Given the description of an element on the screen output the (x, y) to click on. 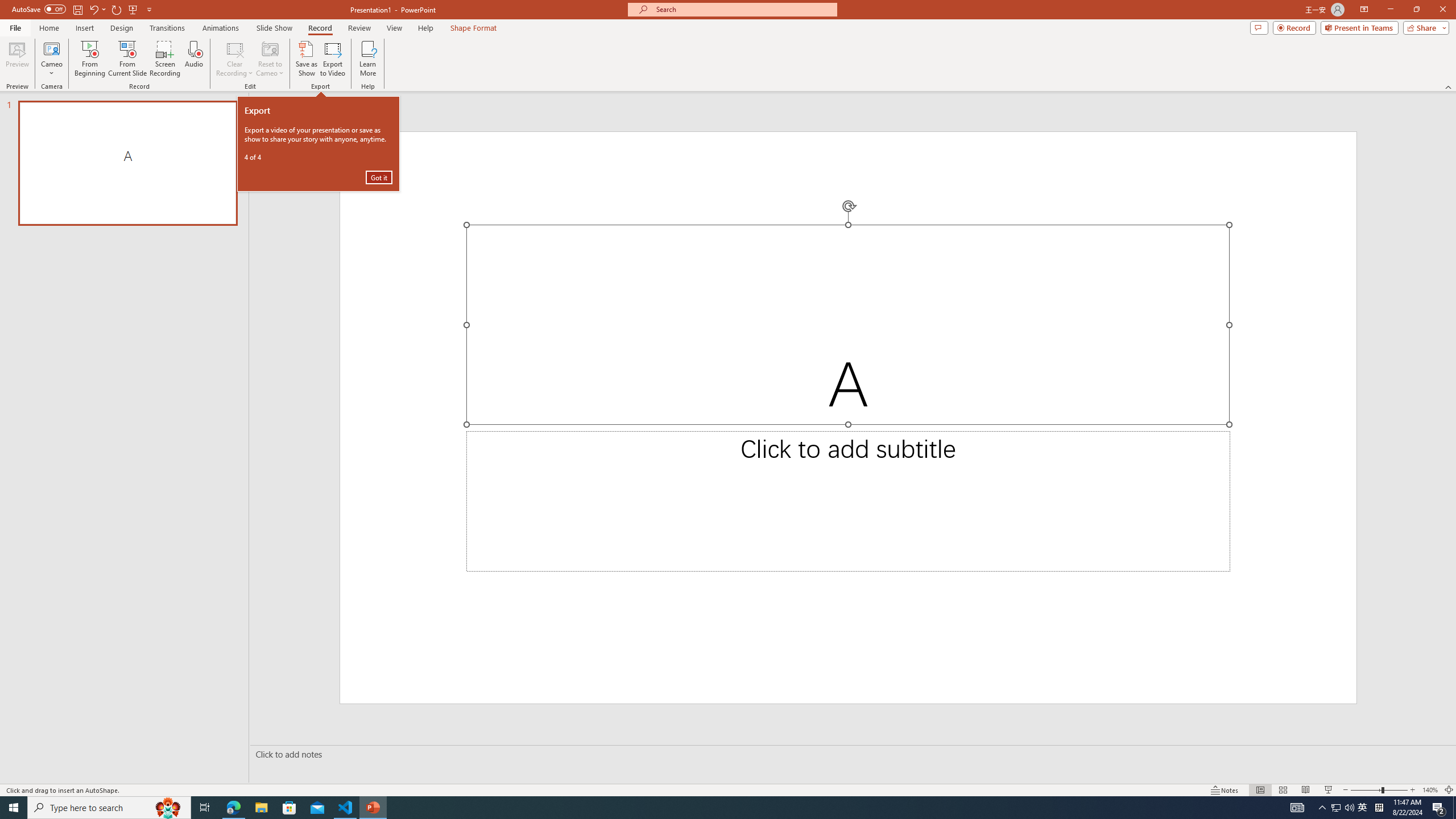
Zoom 140% (1430, 790)
